Given the description of an element on the screen output the (x, y) to click on. 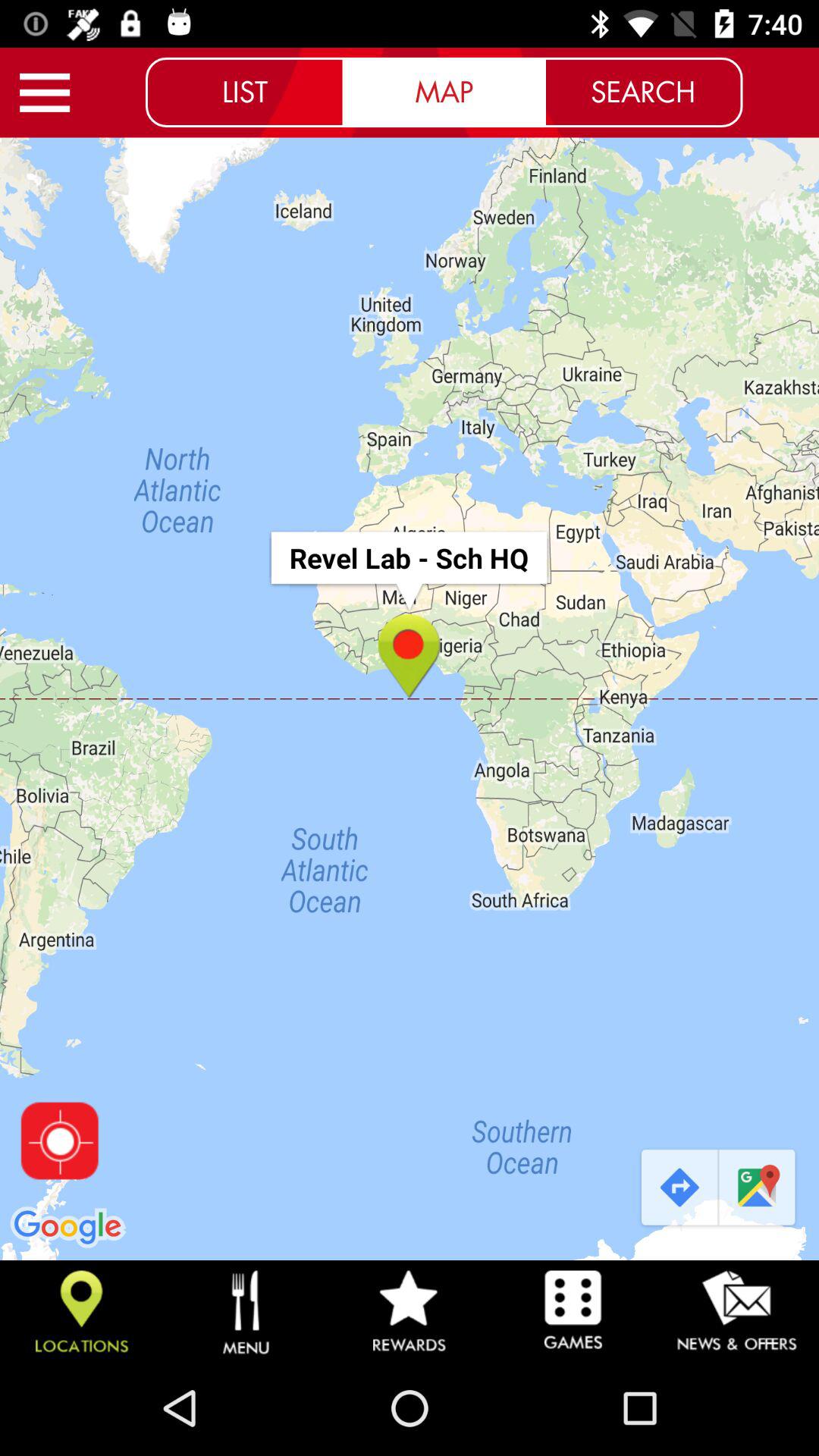
select icon to the left of the map (244, 92)
